Given the description of an element on the screen output the (x, y) to click on. 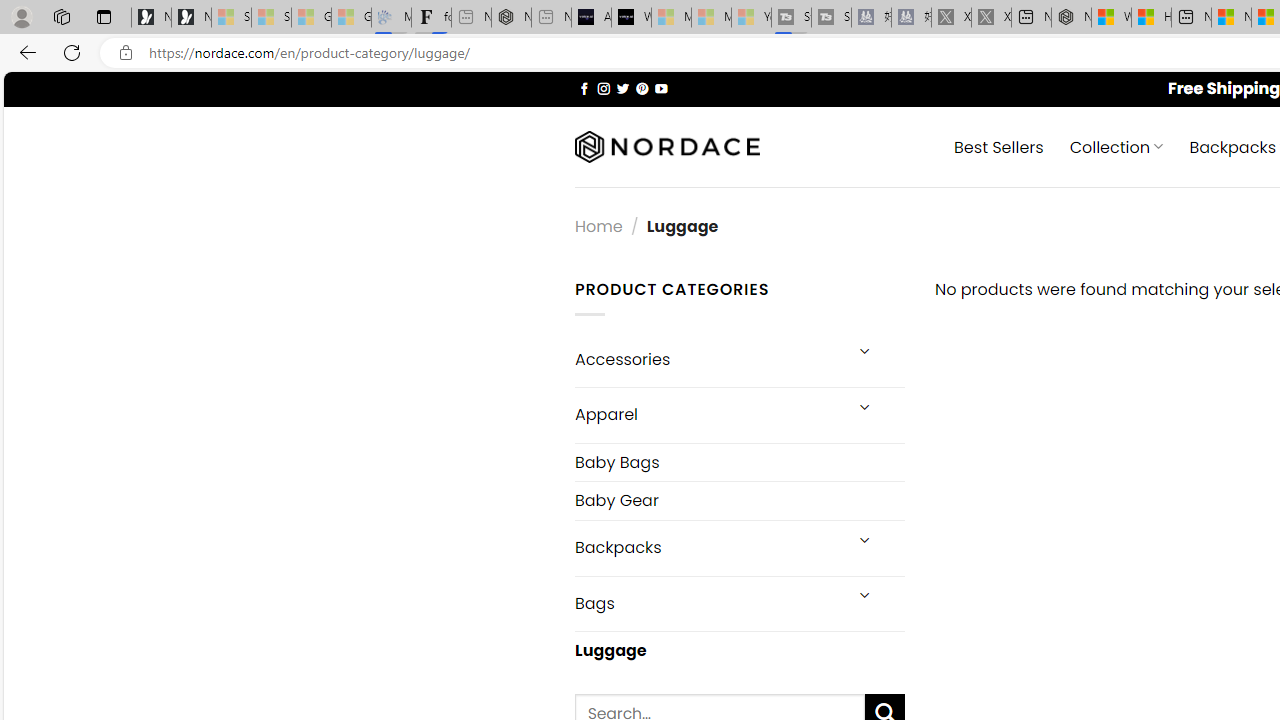
Microsoft Start Sports - Sleeping (671, 17)
Follow on YouTube (661, 88)
